Given the description of an element on the screen output the (x, y) to click on. 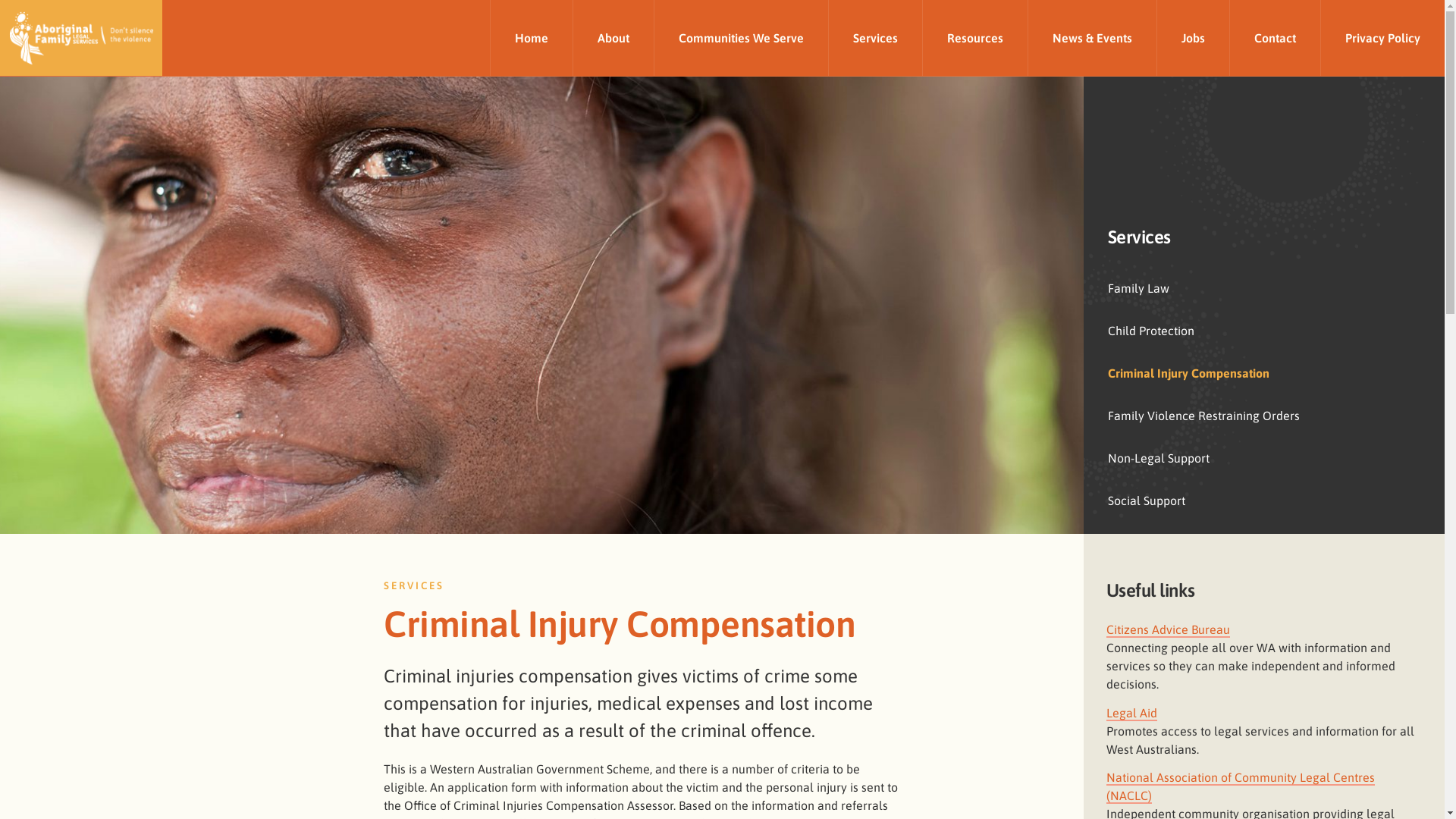
Social Support Element type: text (1263, 500)
Home Element type: text (530, 37)
Family Law Element type: text (1263, 287)
Citizens Advice Bureau Element type: text (1168, 629)
Criminal Injury Compensation Element type: text (1263, 372)
Contact Element type: text (1274, 37)
News & Events Element type: text (1091, 37)
About Element type: text (612, 37)
National Association of Community Legal Centres (NACLC) Element type: text (1240, 786)
Privacy Policy Element type: text (1382, 37)
Resources Element type: text (974, 37)
Communities We Serve Element type: text (740, 37)
Family Violence Restraining Orders Element type: text (1263, 415)
Legal Aid Element type: text (1131, 713)
Non-Legal Support Element type: text (1263, 457)
Jobs Element type: text (1192, 37)
Services Element type: text (875, 37)
Child Protection Element type: text (1263, 330)
